Given the description of an element on the screen output the (x, y) to click on. 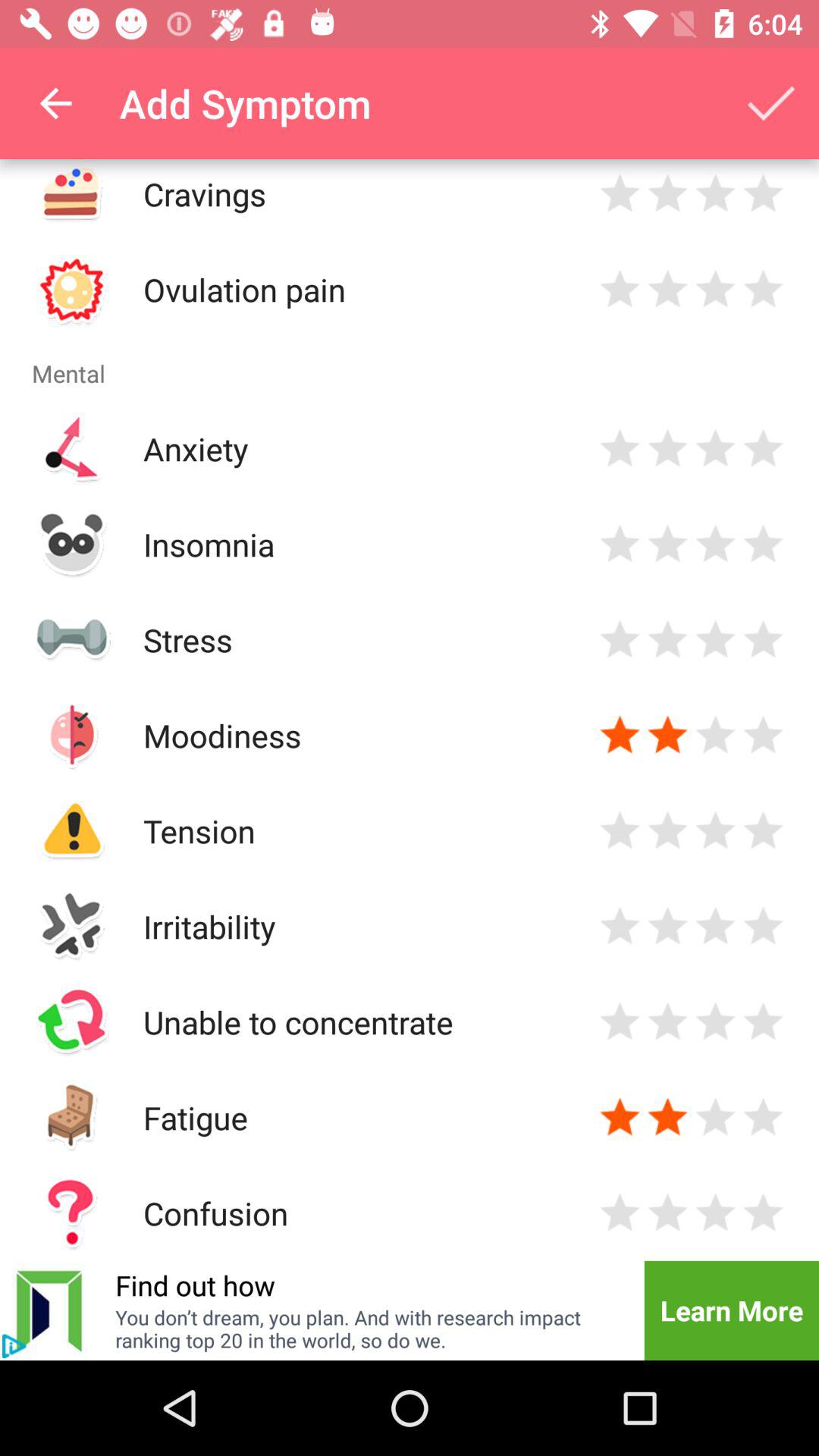
mark as three stars (715, 639)
